Given the description of an element on the screen output the (x, y) to click on. 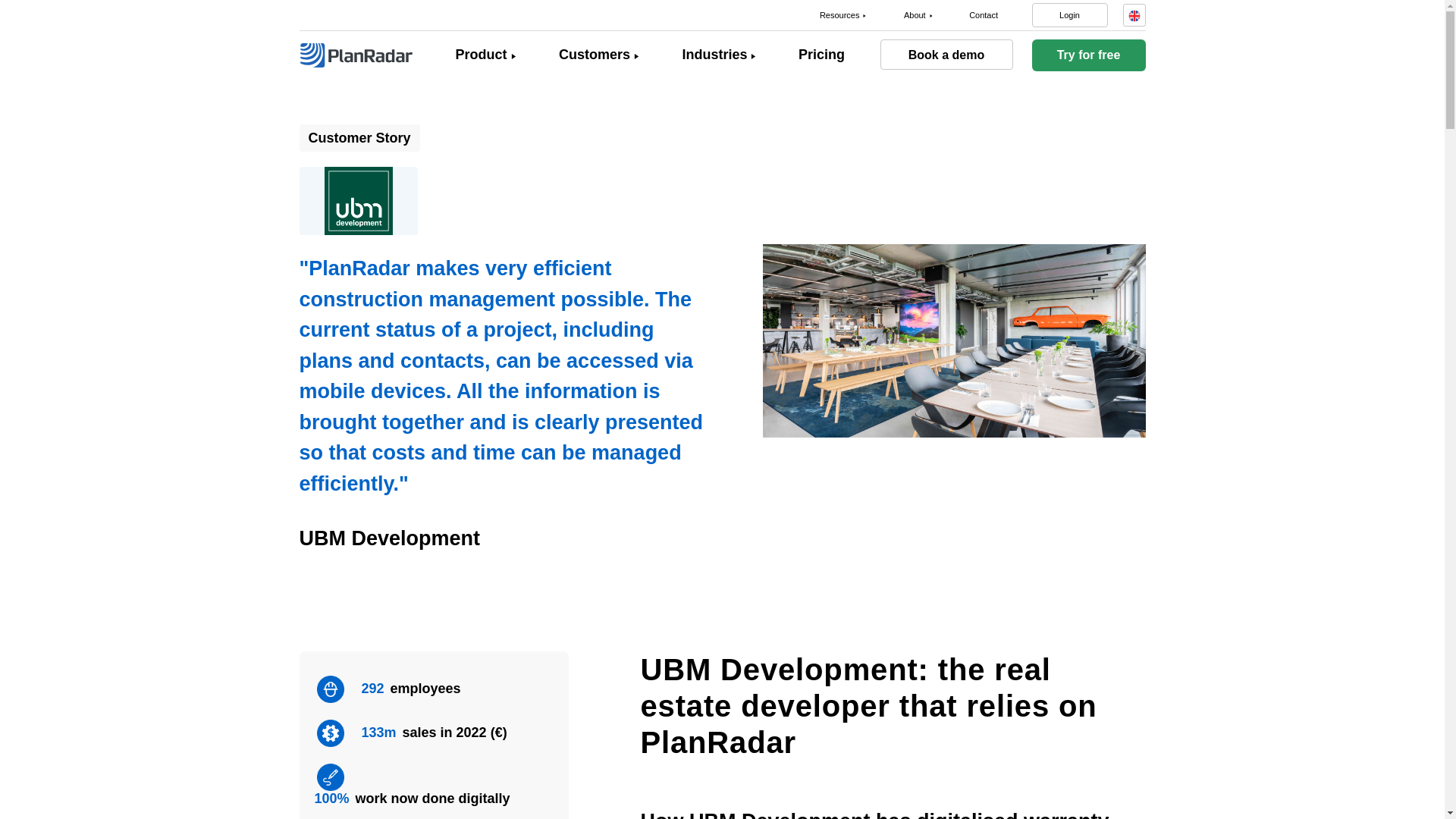
Customers (594, 54)
Login (1068, 15)
Resources (839, 15)
Industries (713, 54)
Product (480, 54)
Contact (983, 15)
